Given the description of an element on the screen output the (x, y) to click on. 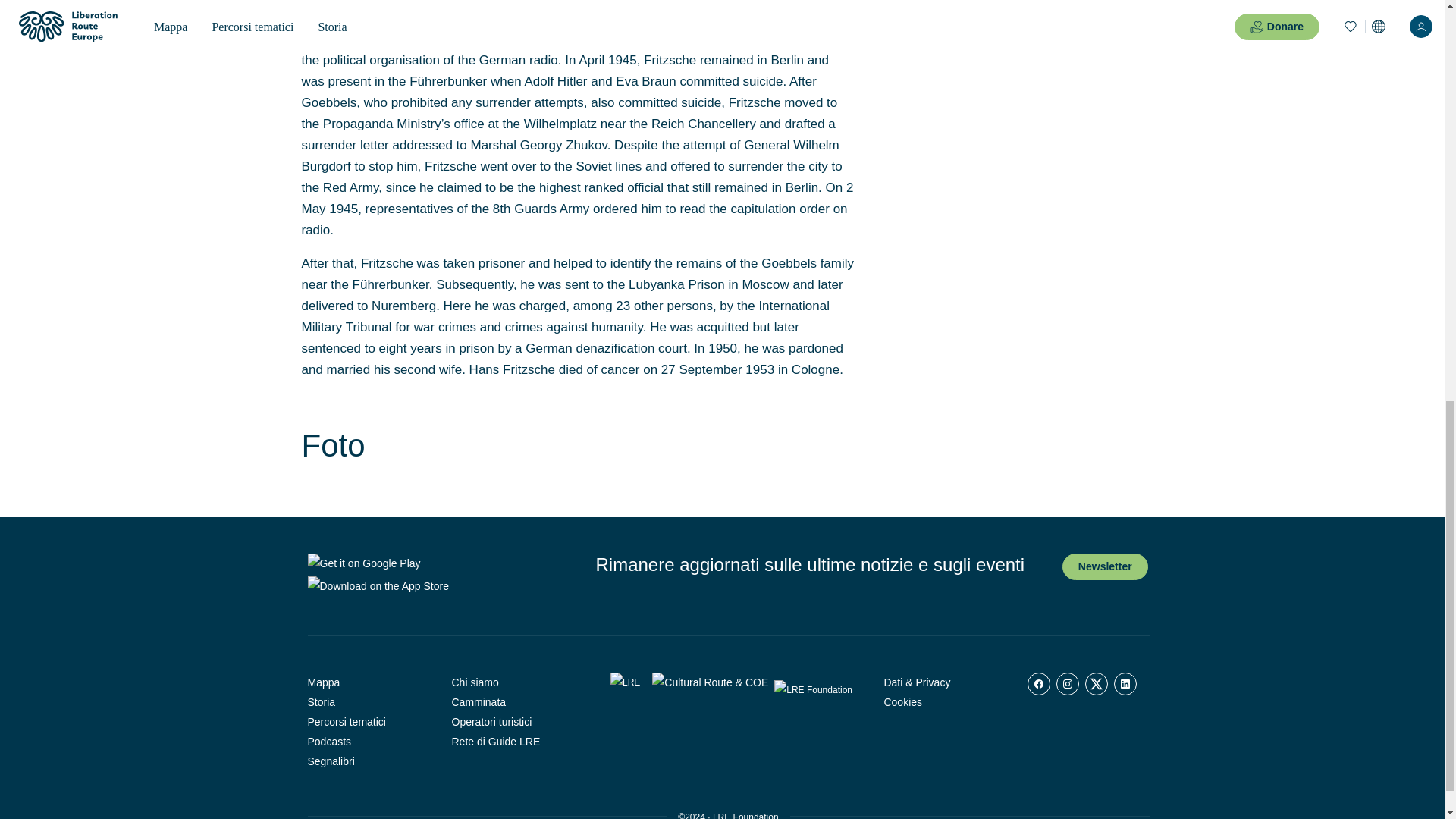
Chi siamo (512, 682)
Newsletter (1105, 566)
Storia (368, 701)
Cookies (943, 701)
Podcasts (368, 741)
Operatori turistici (512, 721)
Mappa (368, 682)
Percorsi tematici (368, 721)
Segnalibri (368, 761)
Camminata (512, 701)
Rete di Guide LRE (512, 741)
LRE Foundation (745, 815)
